Given the description of an element on the screen output the (x, y) to click on. 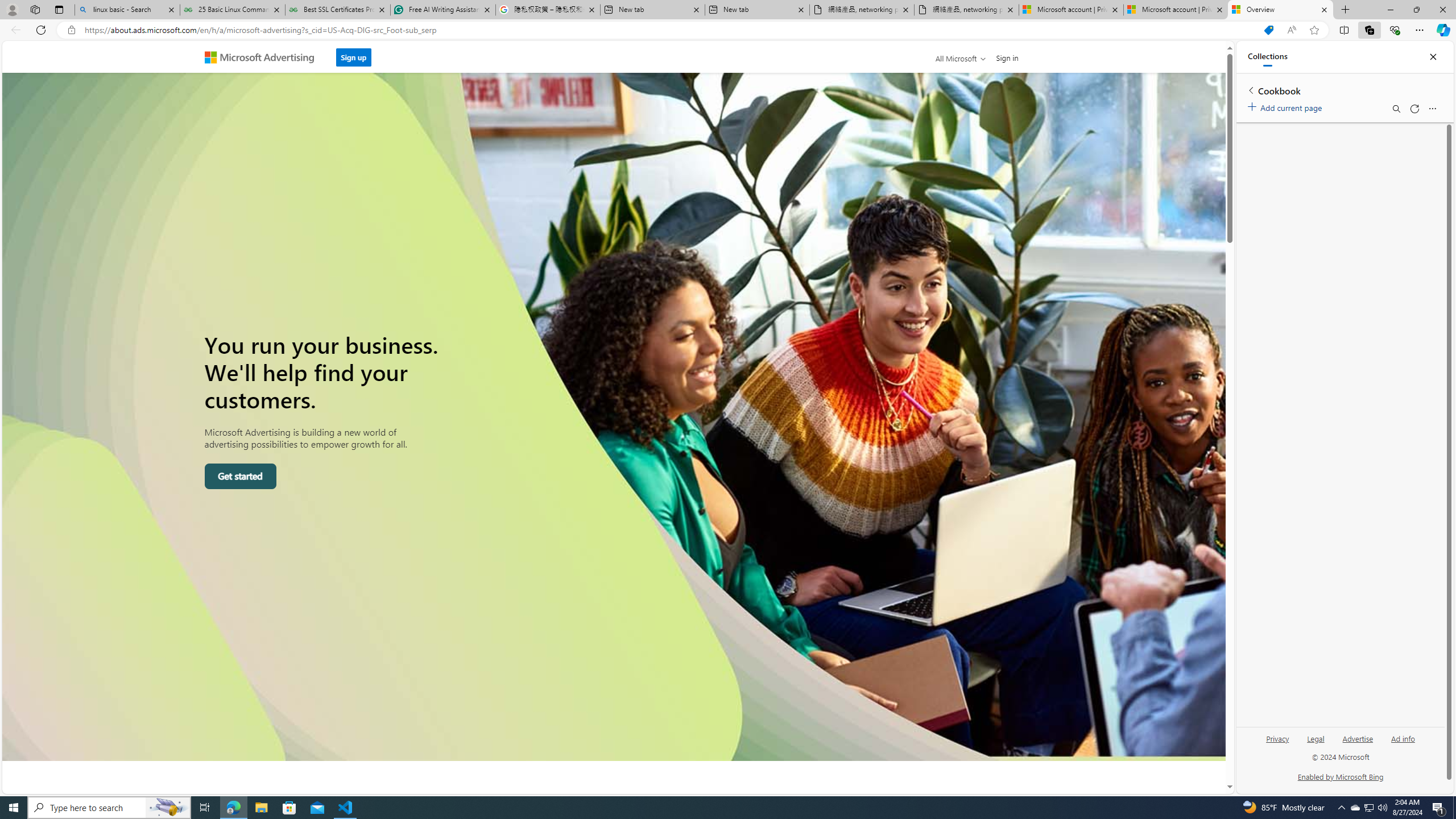
Sign up (353, 53)
Back to list of collections (1250, 90)
More options menu (1432, 108)
